Given the description of an element on the screen output the (x, y) to click on. 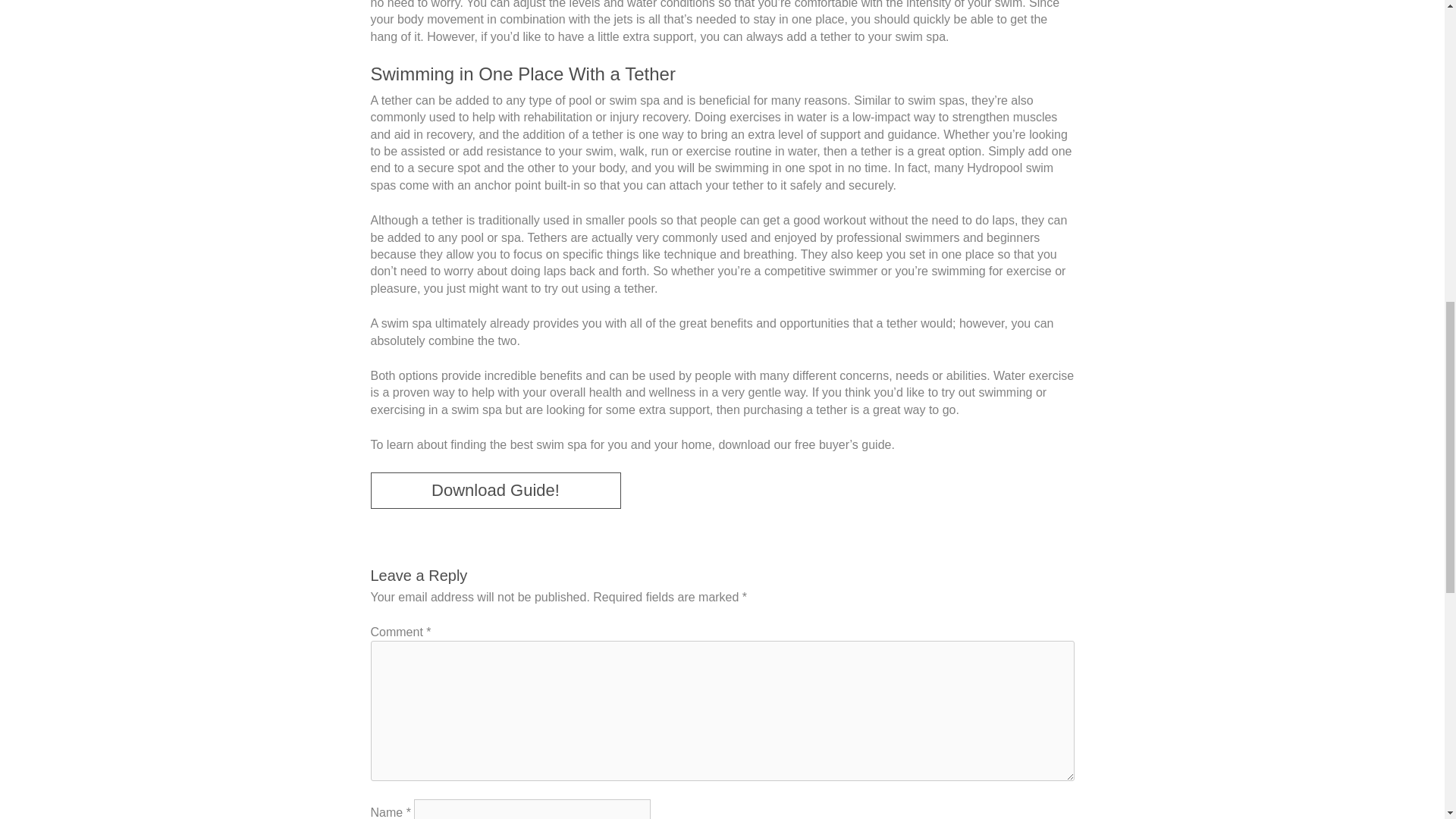
Download Guide! (494, 490)
